Given the description of an element on the screen output the (x, y) to click on. 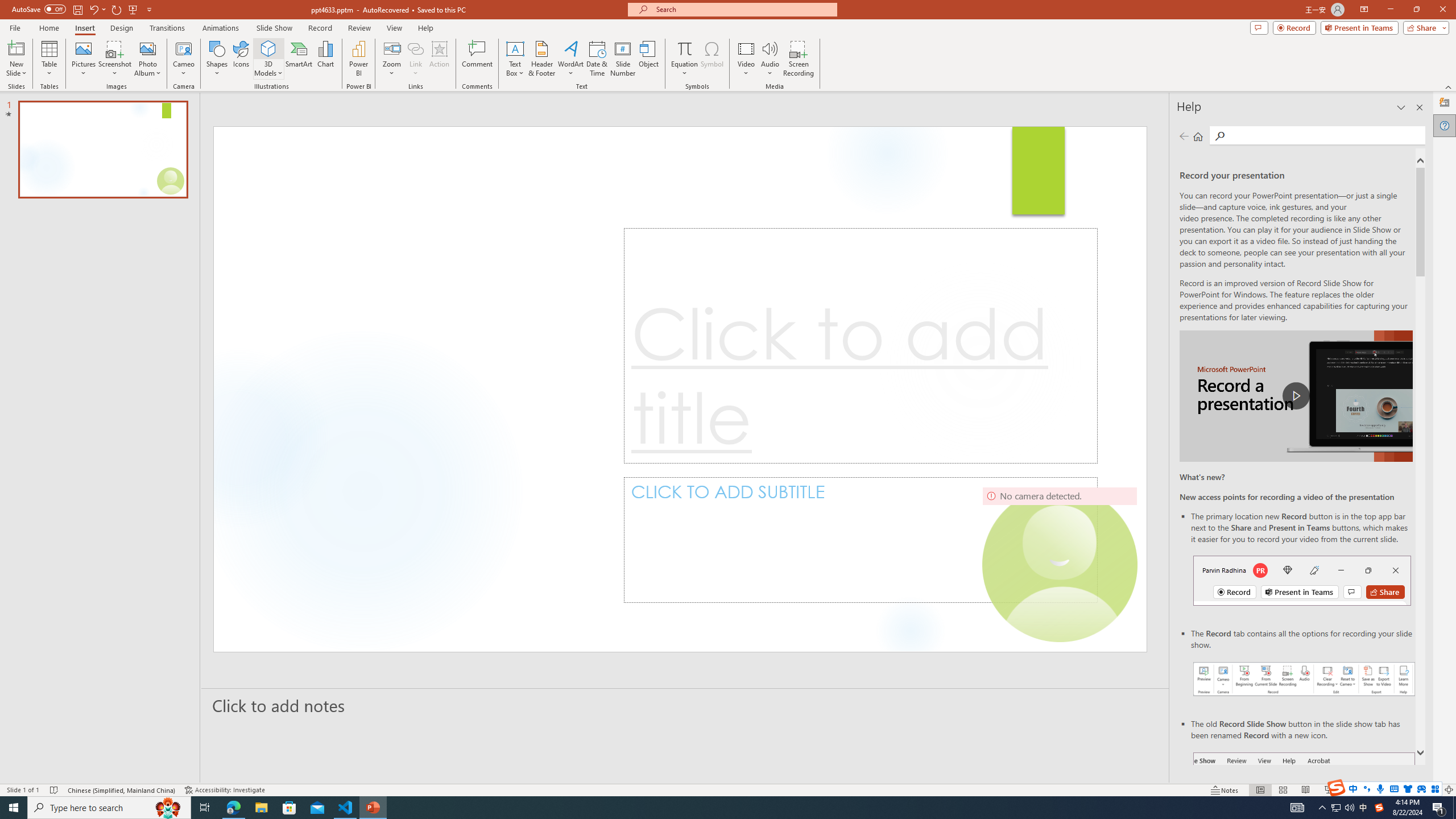
Search (1219, 136)
Screen Recording... (798, 58)
Cameo (183, 48)
Zoom 129% (1430, 790)
Power BI (358, 58)
Slide Number (622, 58)
